Given the description of an element on the screen output the (x, y) to click on. 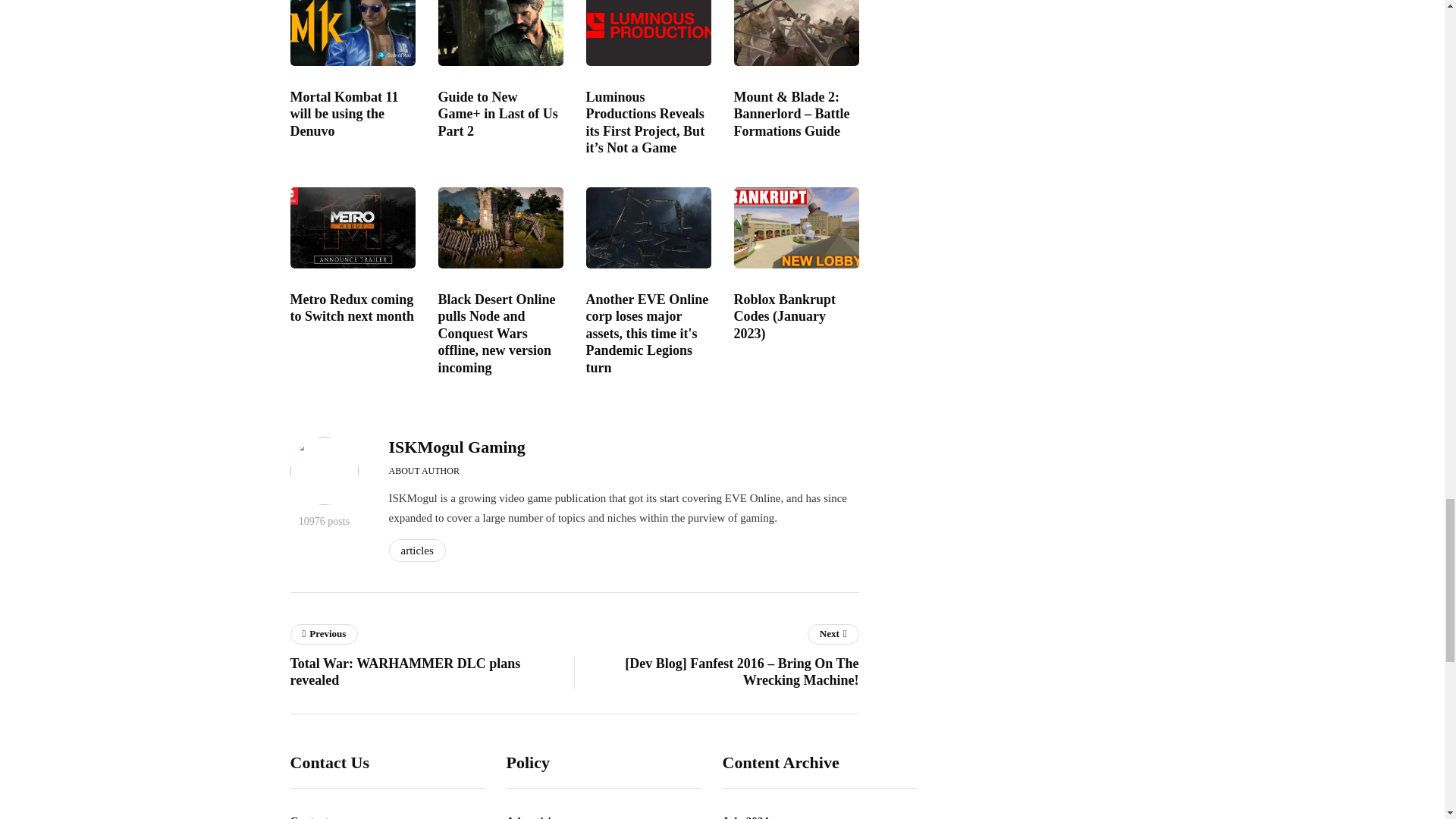
Posts by ISKMogul Gaming (456, 446)
